Given the description of an element on the screen output the (x, y) to click on. 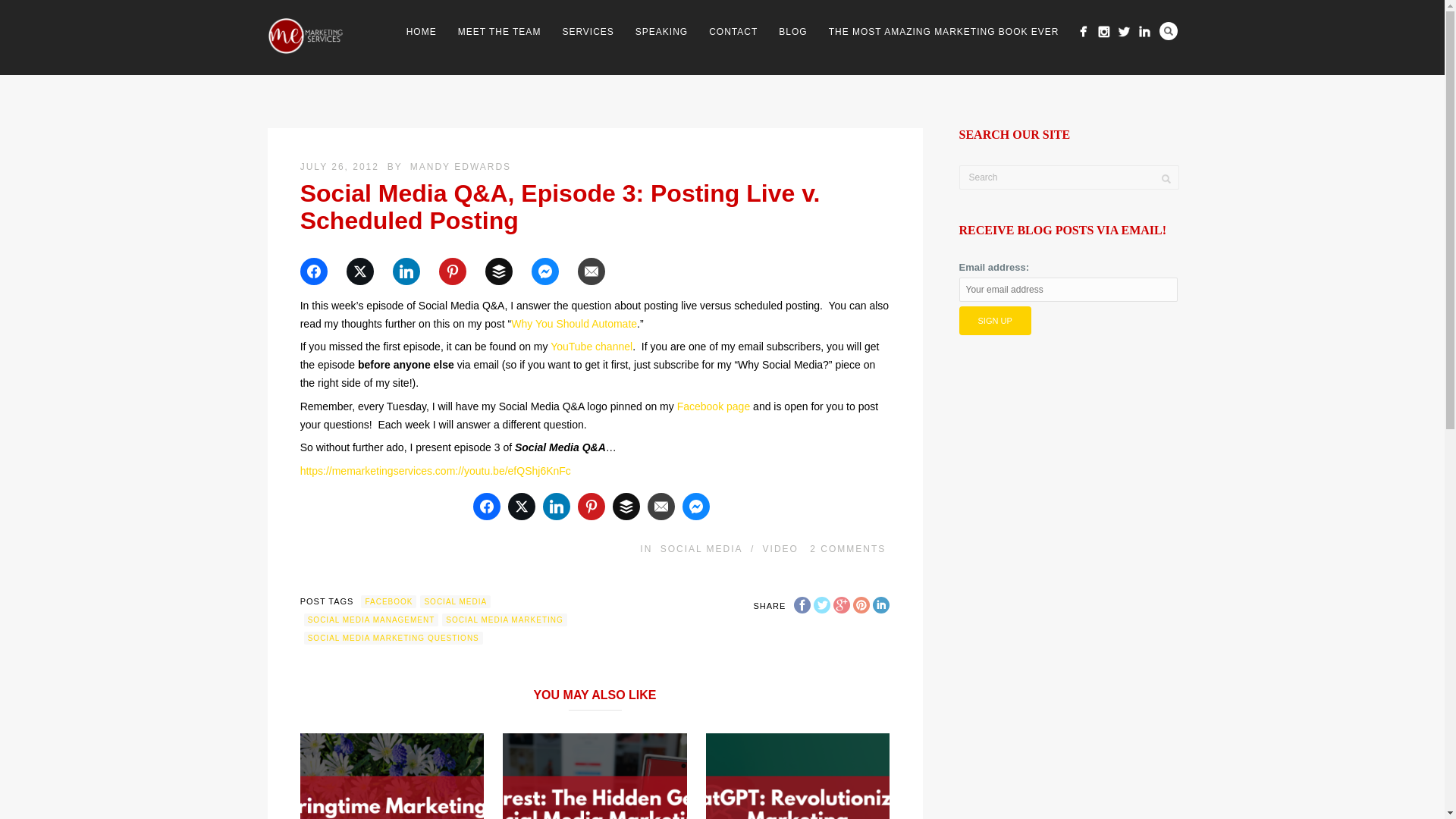
Share on Facebook (320, 271)
Search (1167, 31)
Share on Buffer (505, 271)
BLOG (792, 31)
CONTACT (733, 31)
ME Marketing Services Facebook (1083, 31)
MEET THE TEAM (498, 31)
HOME (421, 31)
Why You Should Automate (574, 323)
ME Marketing Services Twitter (1124, 31)
Share on LinkedIn (414, 271)
THE MOST AMAZING MARKETING BOOK EVER (944, 31)
Share on Pinterest (460, 271)
instagram (1102, 31)
Share on FB Messenger (552, 271)
